Given the description of an element on the screen output the (x, y) to click on. 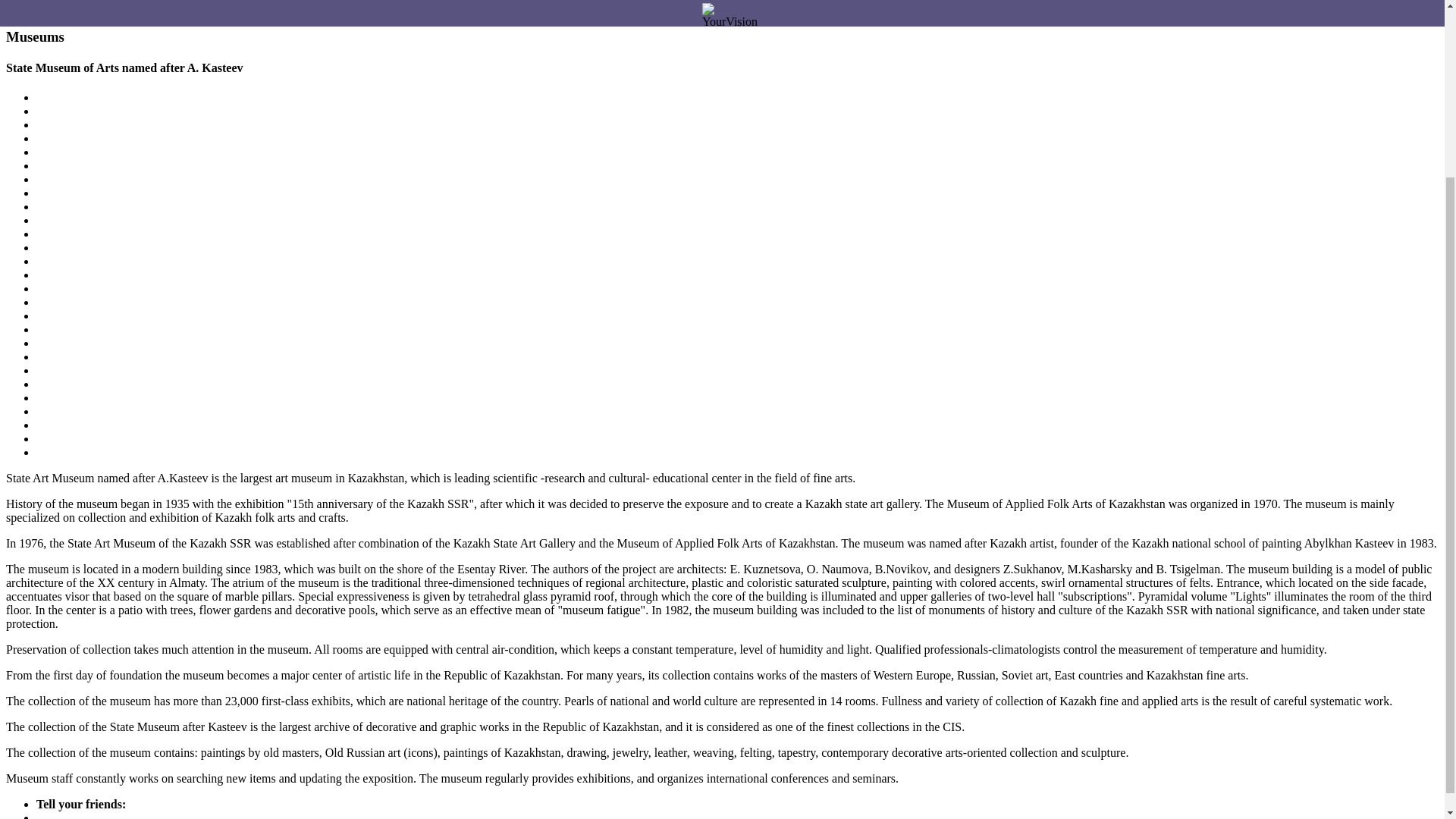
Tours (50, 6)
